Given the description of an element on the screen output the (x, y) to click on. 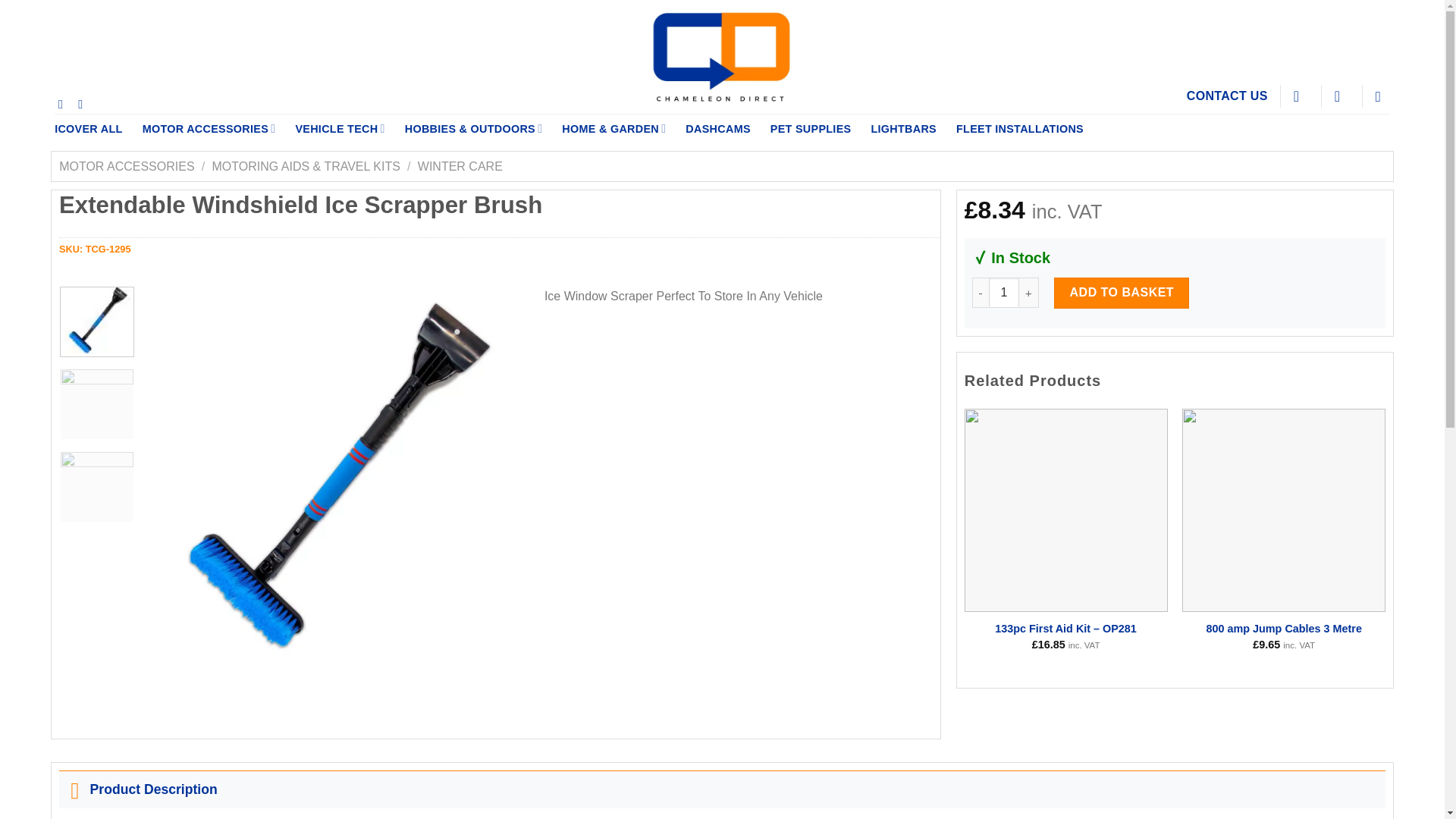
Chameleon Direct (721, 56)
Follow on Facebook (63, 103)
CONTACT US (1227, 95)
MOTOR ACCESSORIES (209, 128)
1 (1003, 292)
ICOVER ALL (88, 128)
